Given the description of an element on the screen output the (x, y) to click on. 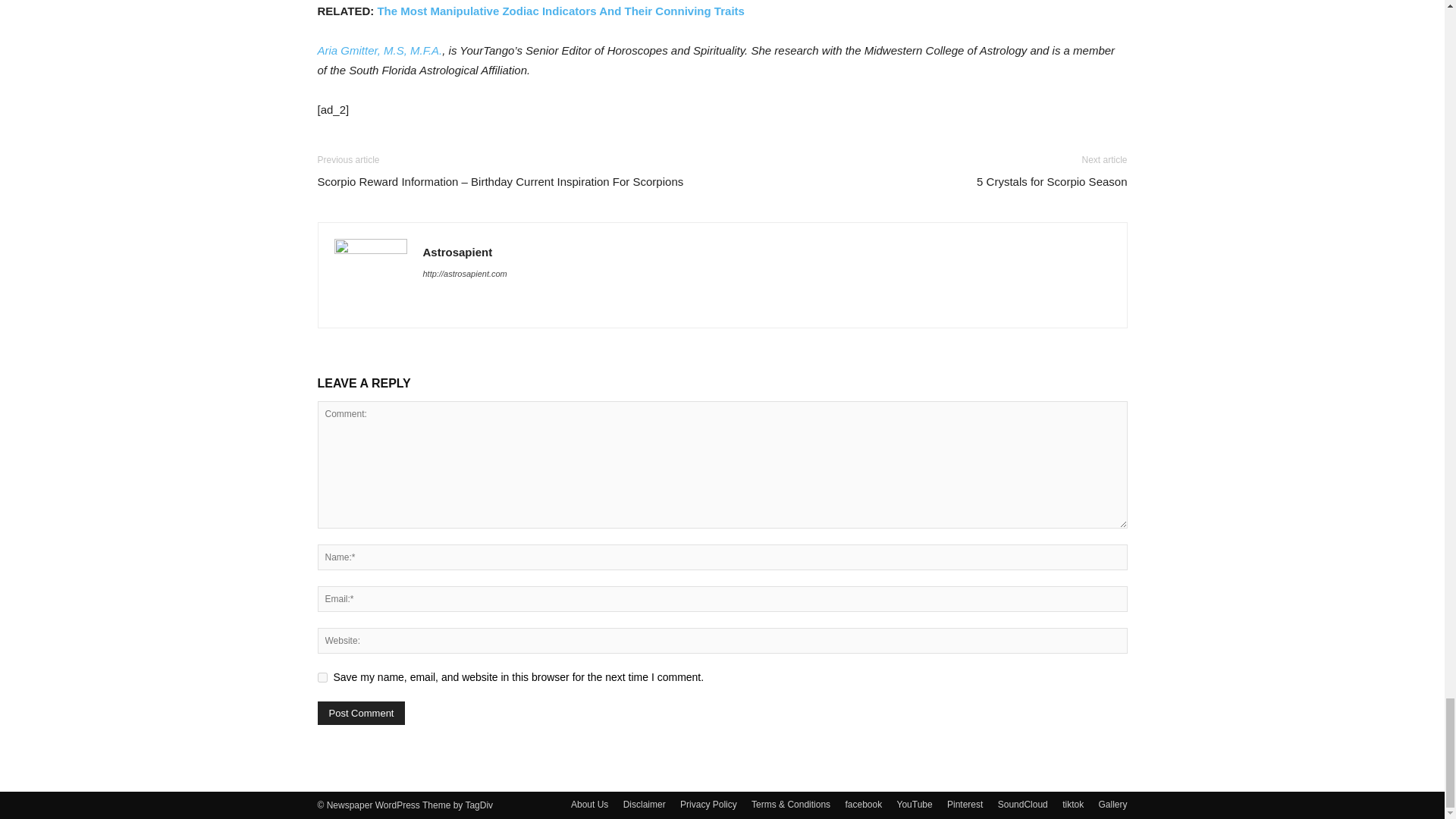
yes (321, 677)
facebook (863, 804)
Privacy Policy (707, 804)
About Us (589, 804)
Post Comment (360, 712)
Aria Gmitter, M.S, M.F.A. (379, 50)
5 Crystals for Scorpio Season (1051, 181)
Post Comment (360, 712)
Disclaimer (644, 804)
Astrosapient (458, 251)
YouTube (914, 804)
